Given the description of an element on the screen output the (x, y) to click on. 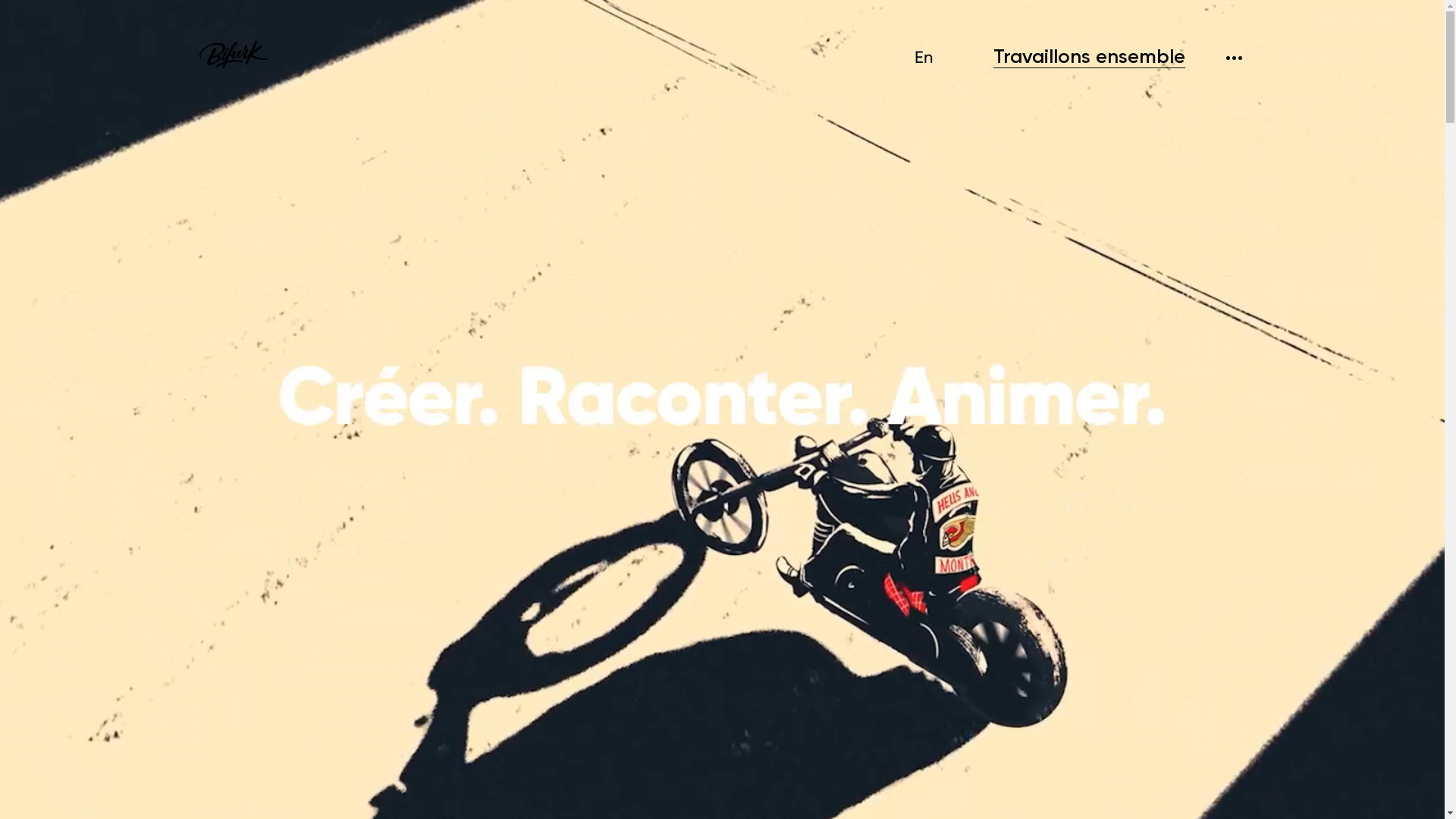
En Element type: text (923, 57)
Travaillons ensemble Element type: text (1089, 56)
